Given the description of an element on the screen output the (x, y) to click on. 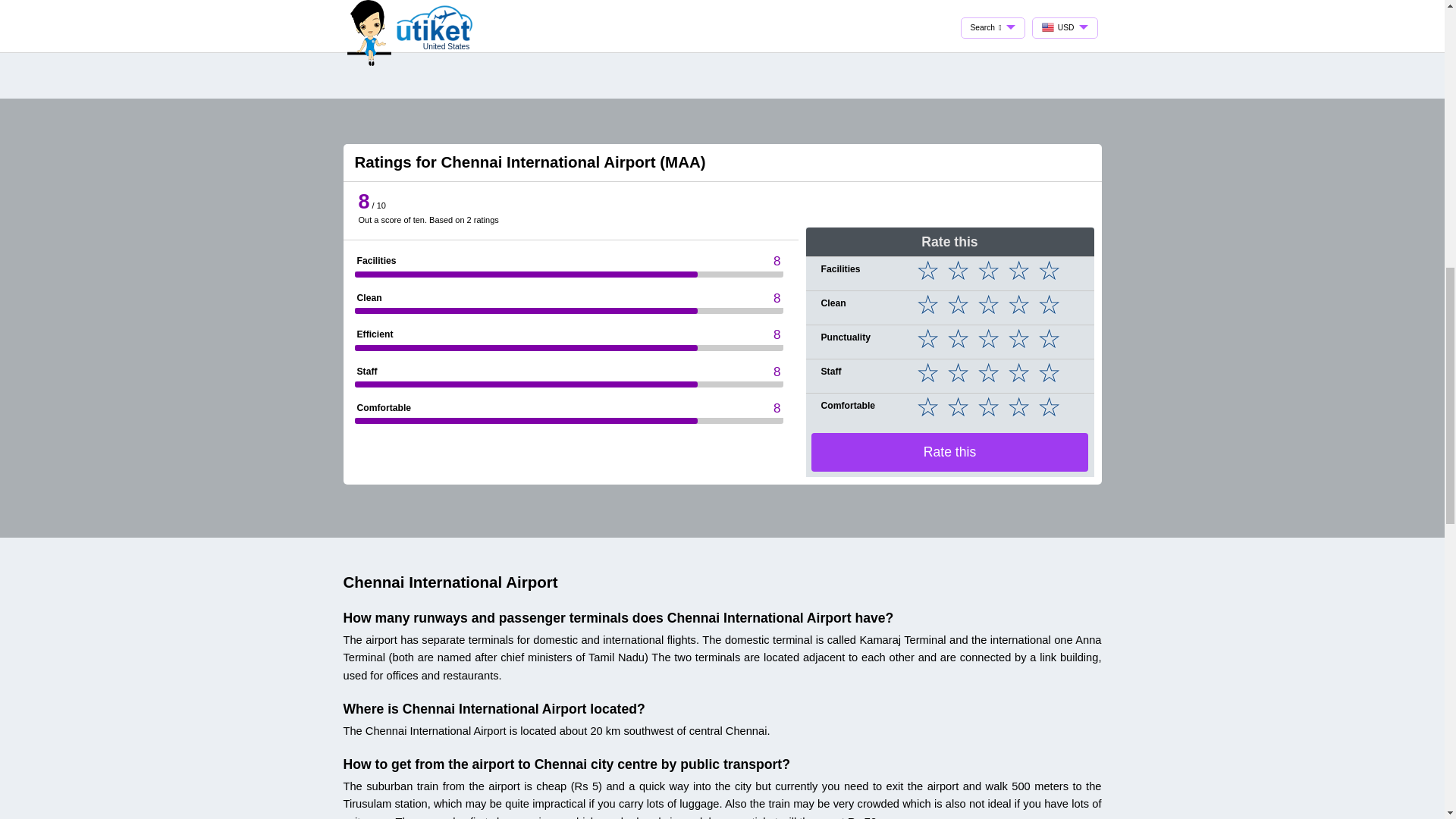
Rate this (948, 452)
